Given the description of an element on the screen output the (x, y) to click on. 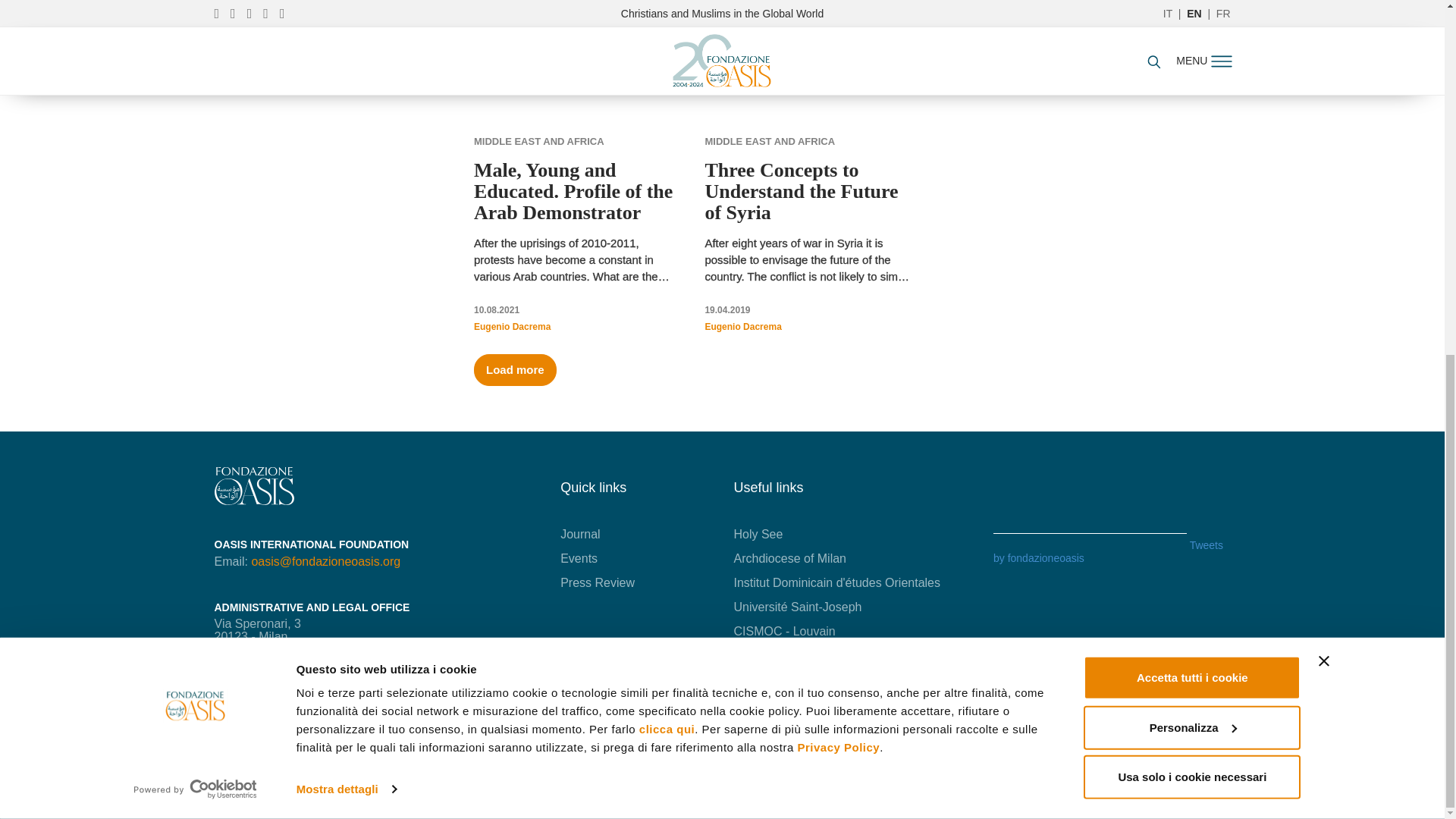
Mostra dettagli (346, 167)
Privacy Policy (837, 124)
clicca qui (666, 106)
